Given the description of an element on the screen output the (x, y) to click on. 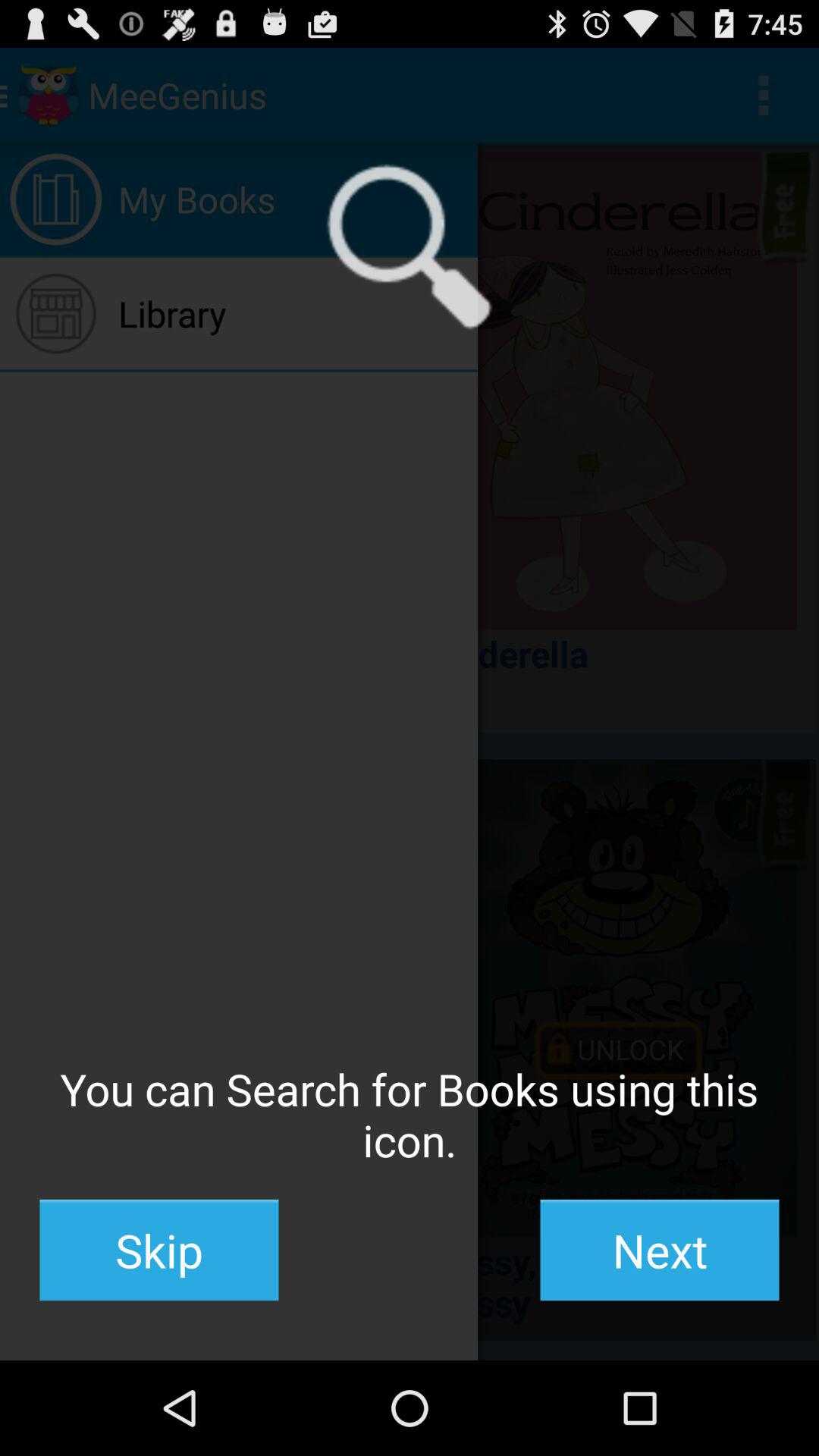
press item at the bottom left corner (158, 1249)
